Given the description of an element on the screen output the (x, y) to click on. 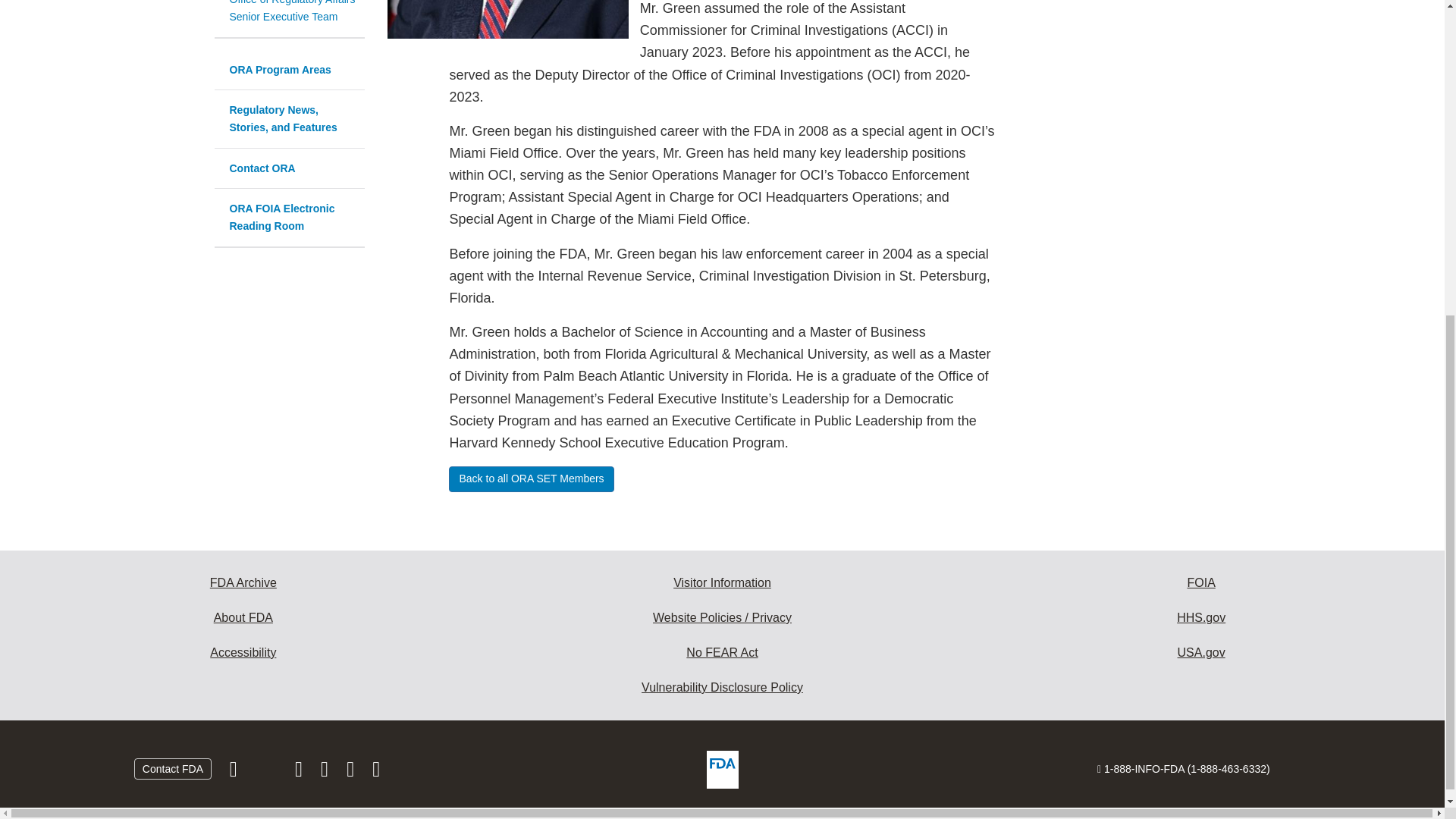
Subscribe to FDA RSS feeds (376, 772)
Health and Human Services (1200, 617)
Justin Green (507, 19)
Follow FDA on Facebook (234, 772)
Follow FDA on X (266, 772)
Follow FDA on LinkedIn (326, 772)
Freedom of Information Act (1200, 582)
View FDA videos on YouTube (352, 772)
Follow FDA on Instagram (299, 772)
